Given the description of an element on the screen output the (x, y) to click on. 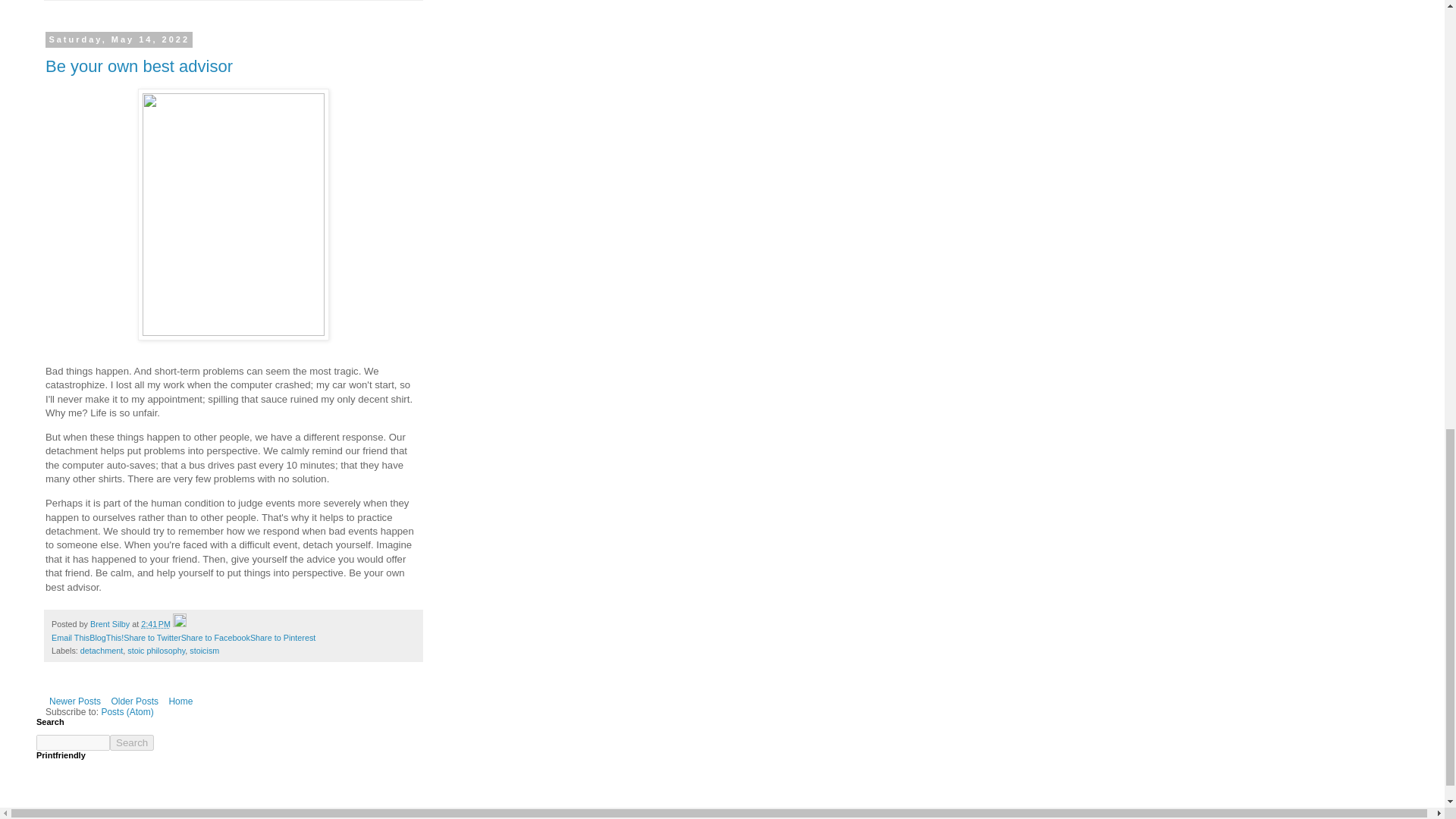
Newer Posts (74, 701)
Edit Post (179, 623)
Share to Facebook (215, 637)
Home (180, 701)
Share to Twitter (151, 637)
author profile (111, 623)
Share to Twitter (151, 637)
Search (132, 742)
Search (132, 742)
detachment (101, 650)
Email This (69, 637)
stoicism (204, 650)
Search (132, 742)
Share to Pinterest (282, 637)
